Given the description of an element on the screen output the (x, y) to click on. 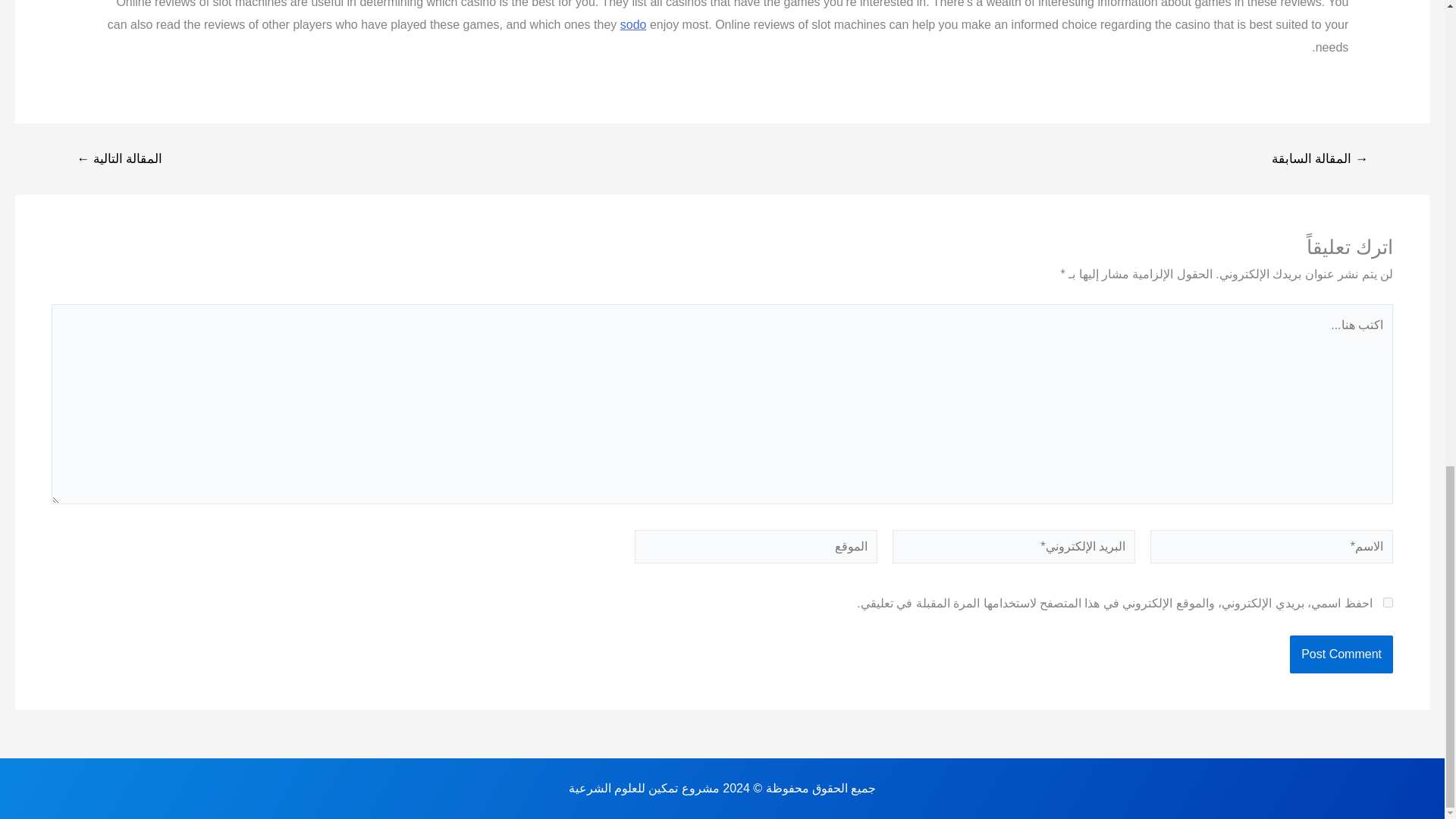
Post Comment (1341, 654)
yes (1388, 602)
Post Comment (1341, 654)
sodo (633, 24)
